Given the description of an element on the screen output the (x, y) to click on. 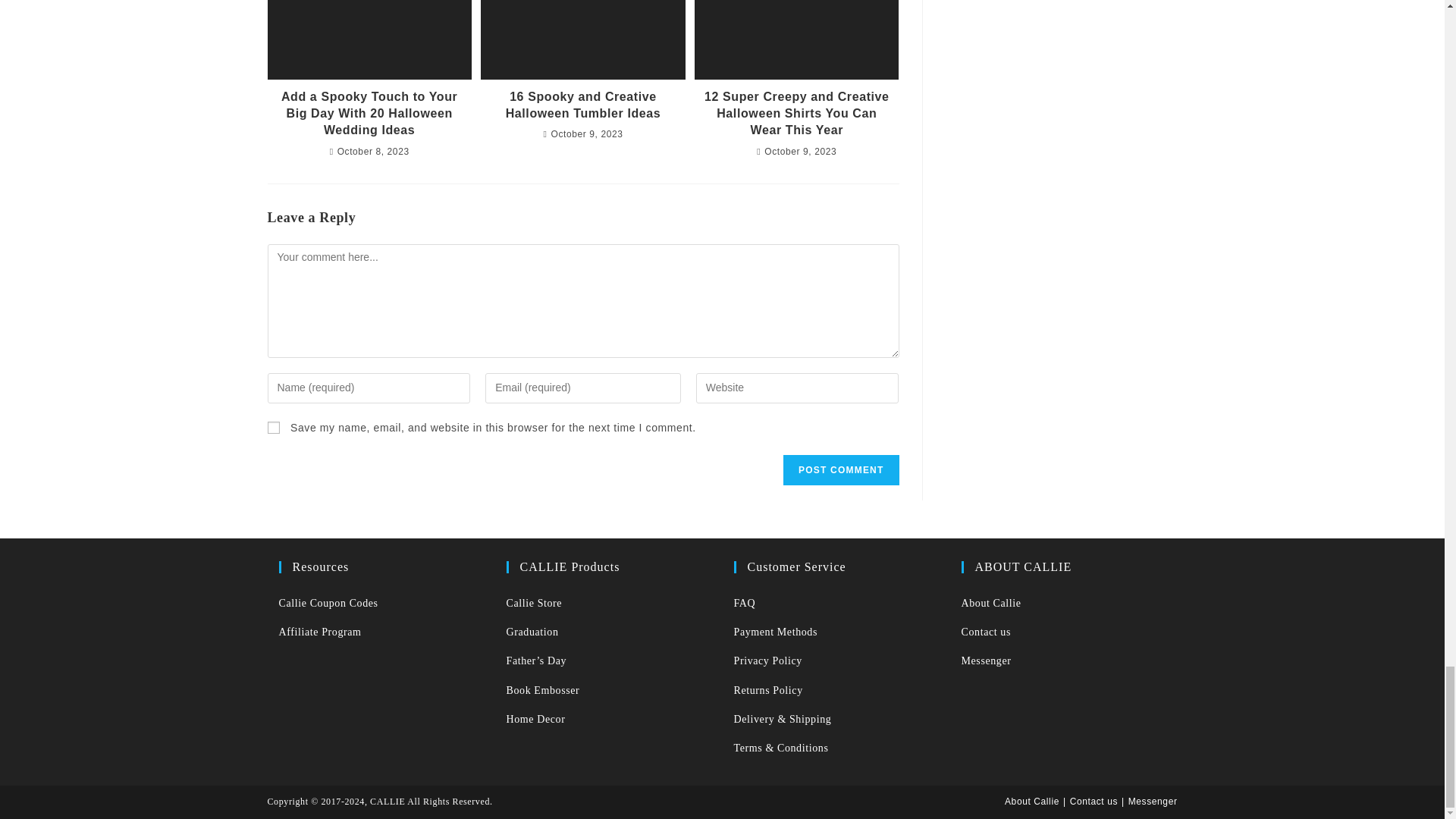
yes (272, 427)
Post Comment (840, 470)
